Given the description of an element on the screen output the (x, y) to click on. 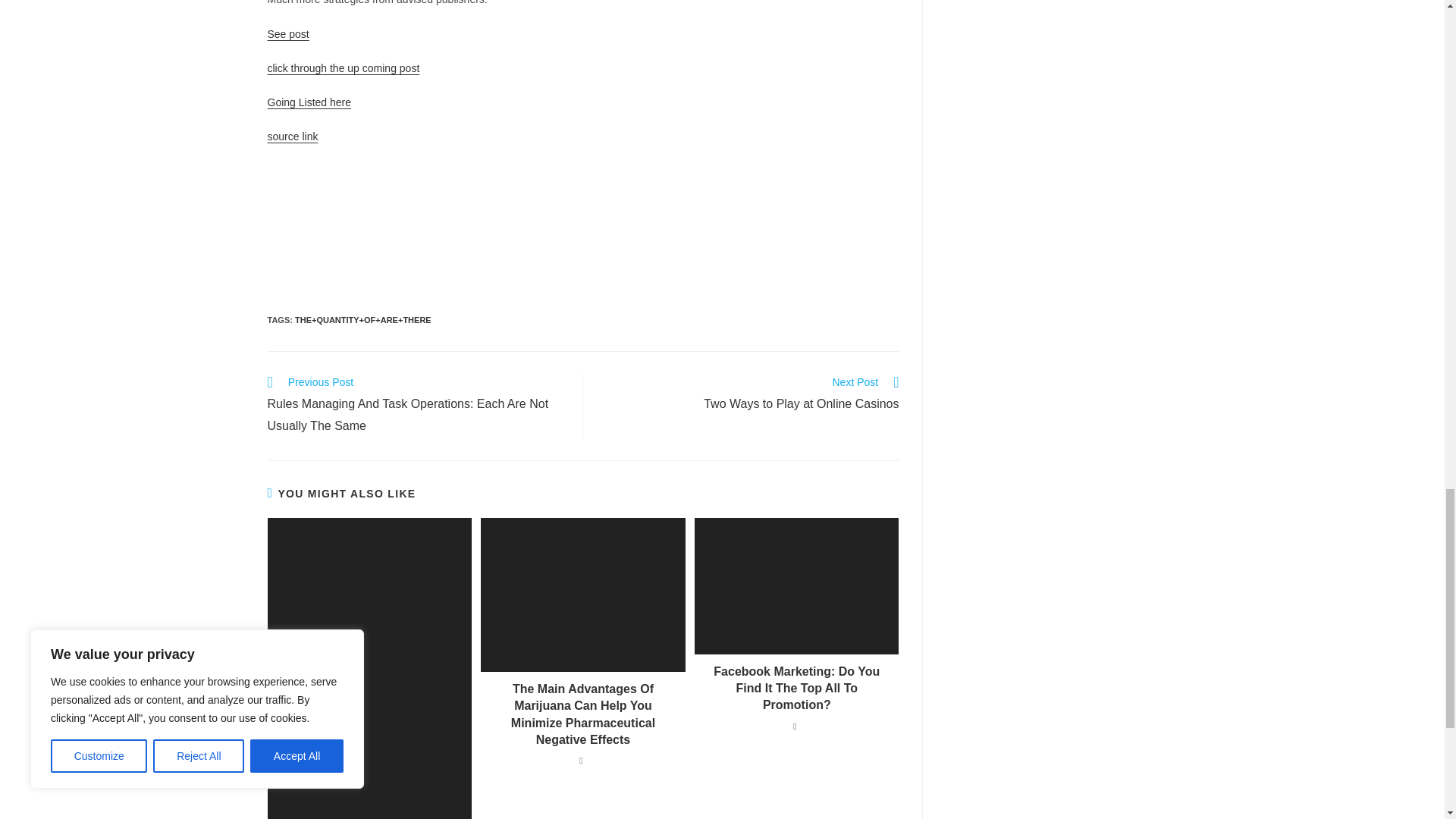
Going Listed here (308, 102)
source link (291, 136)
click through the up coming post (342, 68)
See post (287, 33)
